Given the description of an element on the screen output the (x, y) to click on. 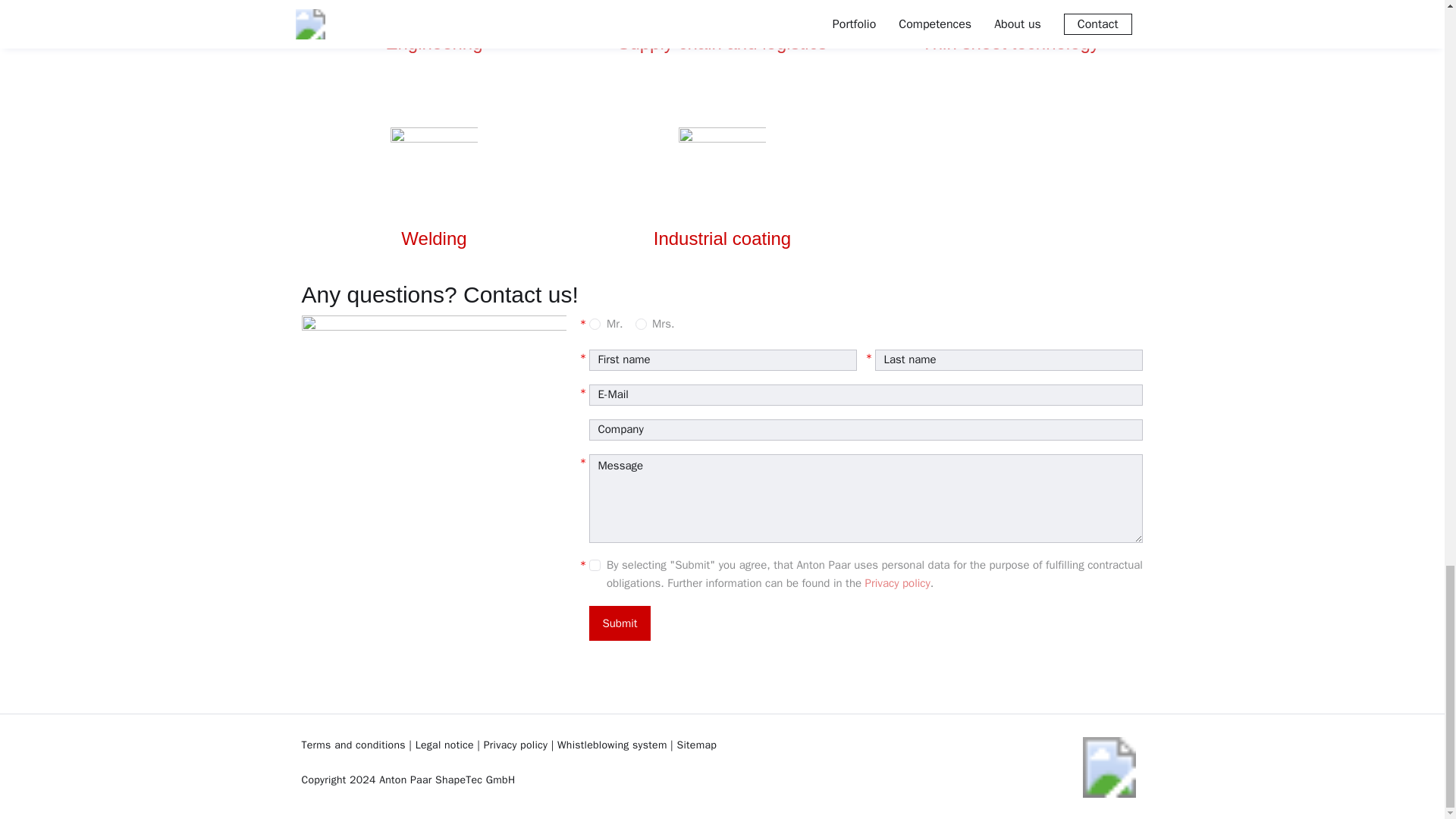
Mrs. (640, 324)
Submit (619, 623)
Mr. (594, 324)
yes (594, 564)
